Given the description of an element on the screen output the (x, y) to click on. 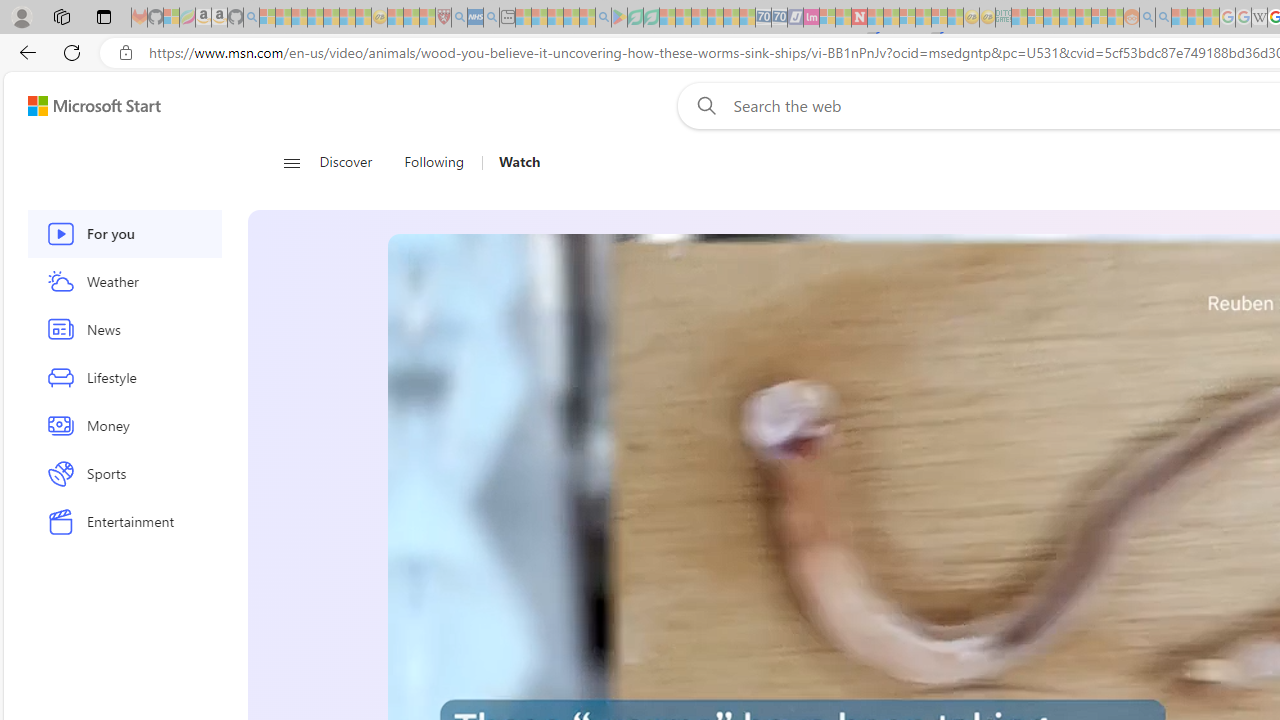
Utah sues federal government - Search - Sleeping (1163, 17)
Watch (511, 162)
Jobs - lastminute.com Investor Portal - Sleeping (811, 17)
Local - MSN - Sleeping (427, 17)
Robert H. Shmerling, MD - Harvard Health - Sleeping (443, 17)
Bluey: Let's Play! - Apps on Google Play - Sleeping (619, 17)
